Given the description of an element on the screen output the (x, y) to click on. 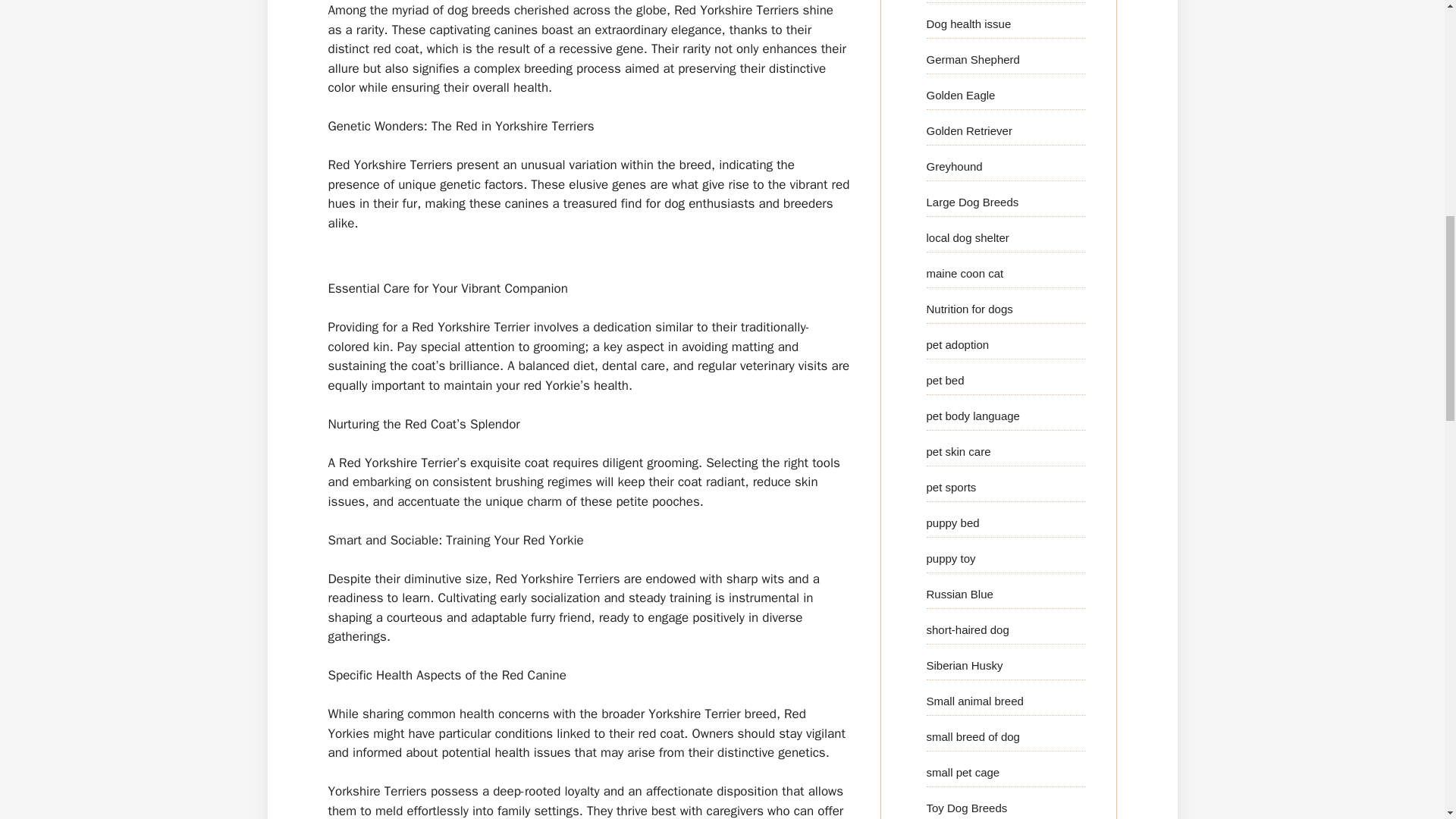
Yorkshire Terriers (376, 790)
Golden Eagle (960, 93)
Dog health issue (968, 22)
Scroll back to top (1406, 720)
Golden Retriever (968, 130)
German Shepherd (973, 59)
